Given the description of an element on the screen output the (x, y) to click on. 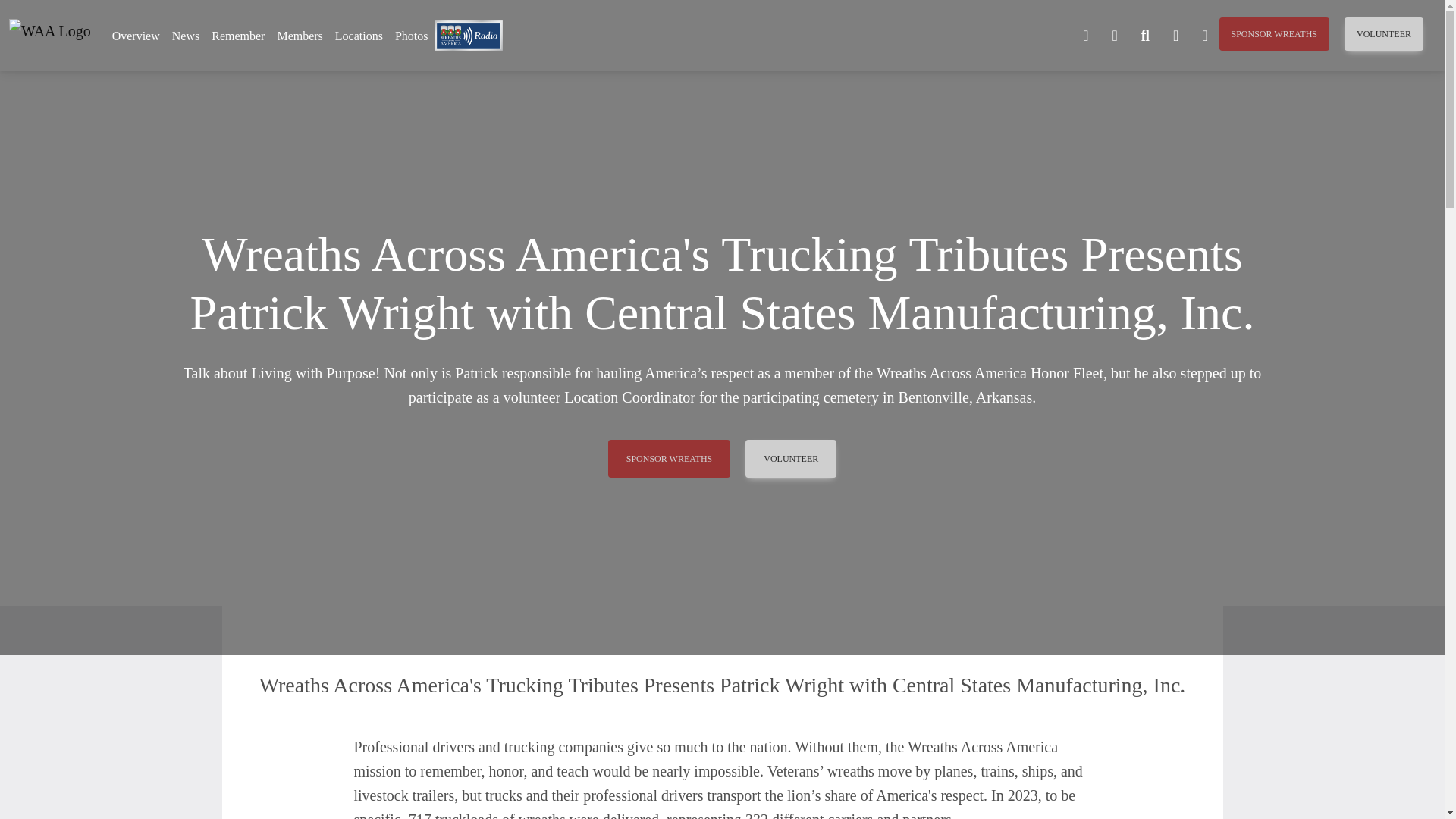
Contact (1085, 36)
Remember (237, 36)
Members (299, 36)
Locations (358, 36)
Search (1145, 36)
VOLUNTEER (790, 458)
Overview (135, 36)
Click to Play WAA Radio (467, 33)
News (185, 36)
VOLUNTEER (1383, 33)
Photos (410, 36)
SPONSOR WREATHS (1274, 33)
SPONSOR WREATHS (669, 458)
Shop (1175, 36)
